Given the description of an element on the screen output the (x, y) to click on. 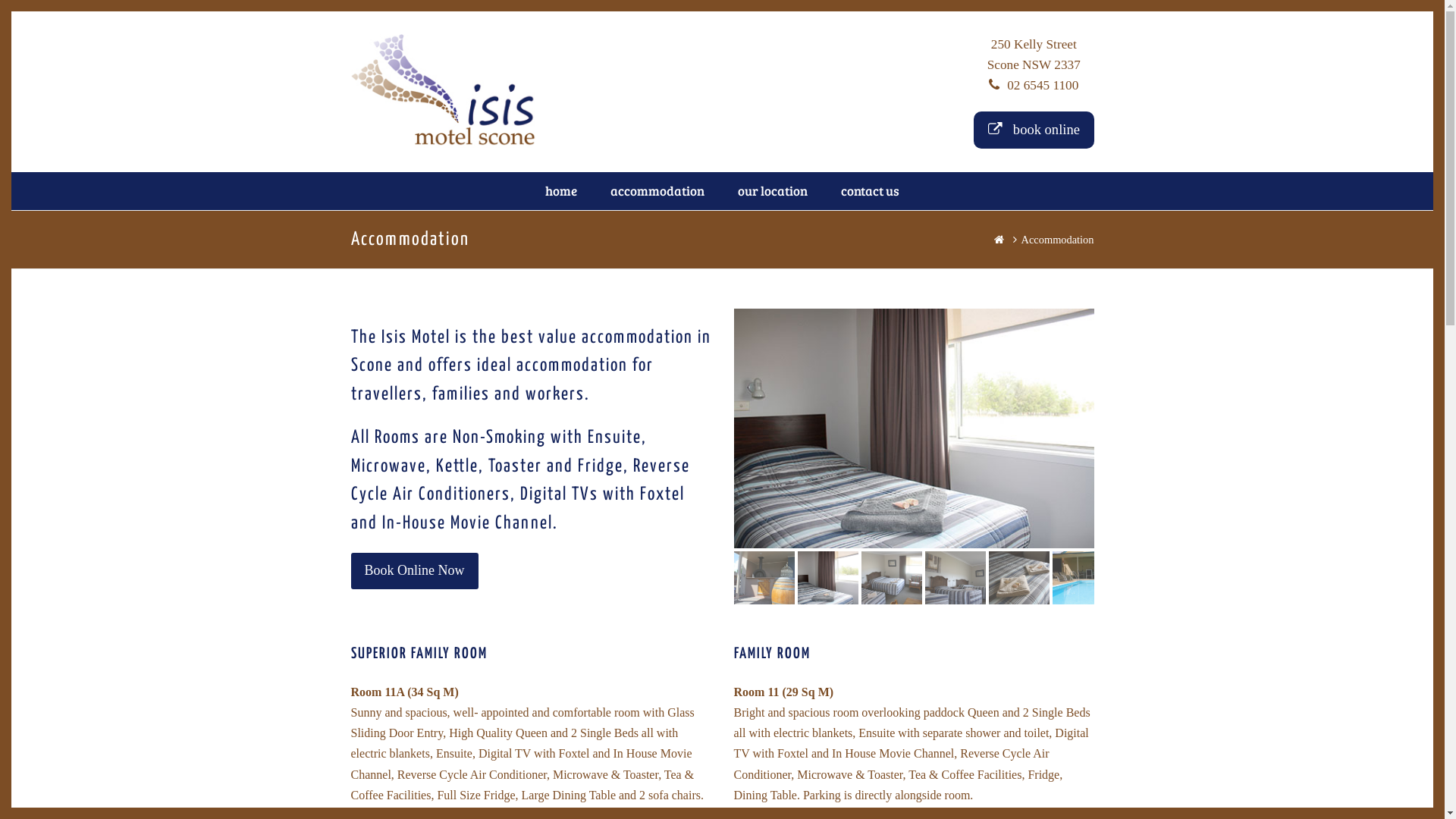
contact us Element type: text (869, 191)
our location Element type: text (772, 191)
Book Online Now Element type: text (413, 570)
Isis Motel Scone Element type: hover (443, 89)
home Element type: text (561, 191)
book online Element type: text (1033, 129)
Isis Motel Scone Element type: hover (1000, 239)
accommodation Element type: text (657, 191)
